Given the description of an element on the screen output the (x, y) to click on. 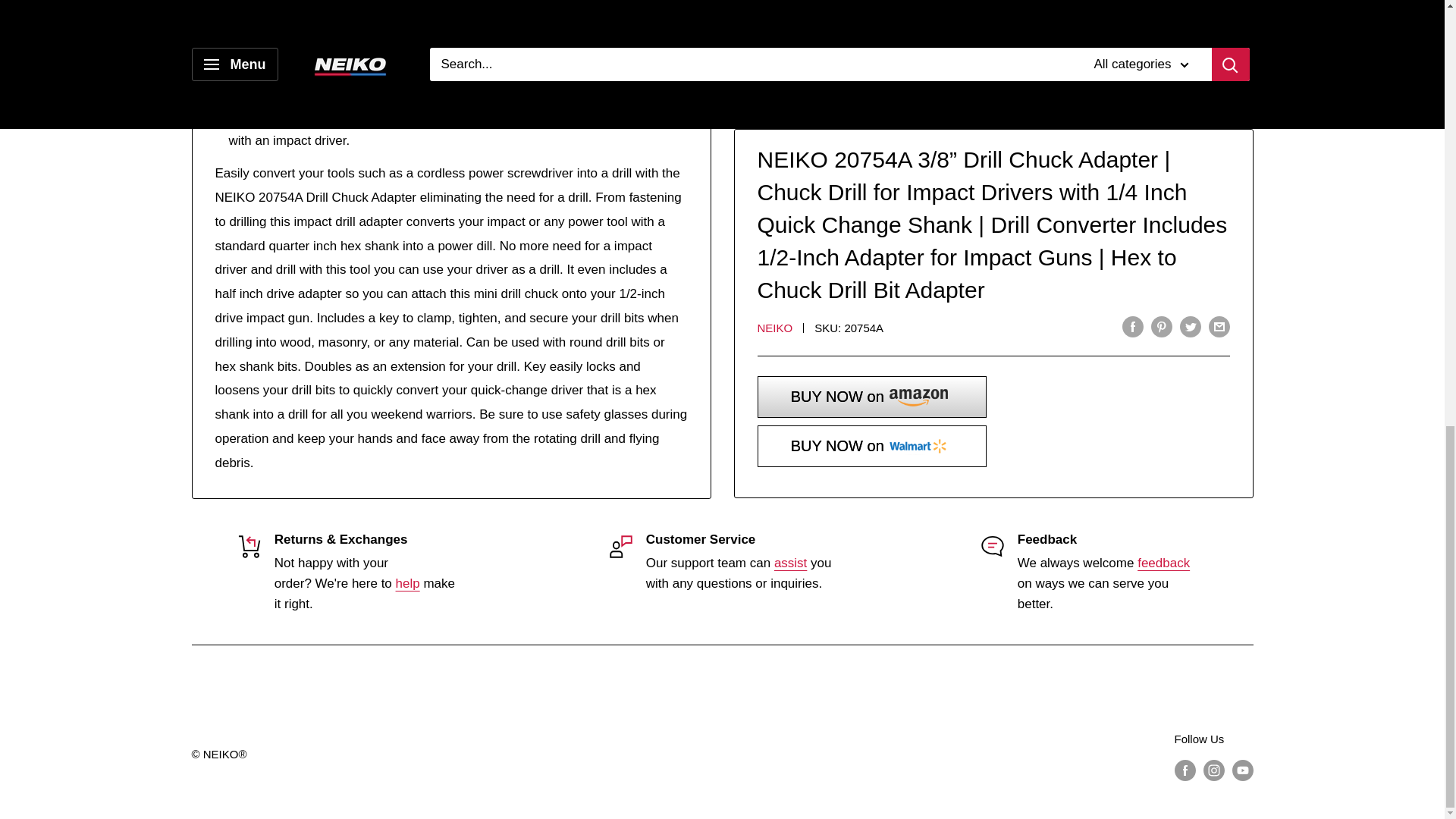
Contact (790, 563)
Contact (1163, 563)
Support (408, 583)
